Given the description of an element on the screen output the (x, y) to click on. 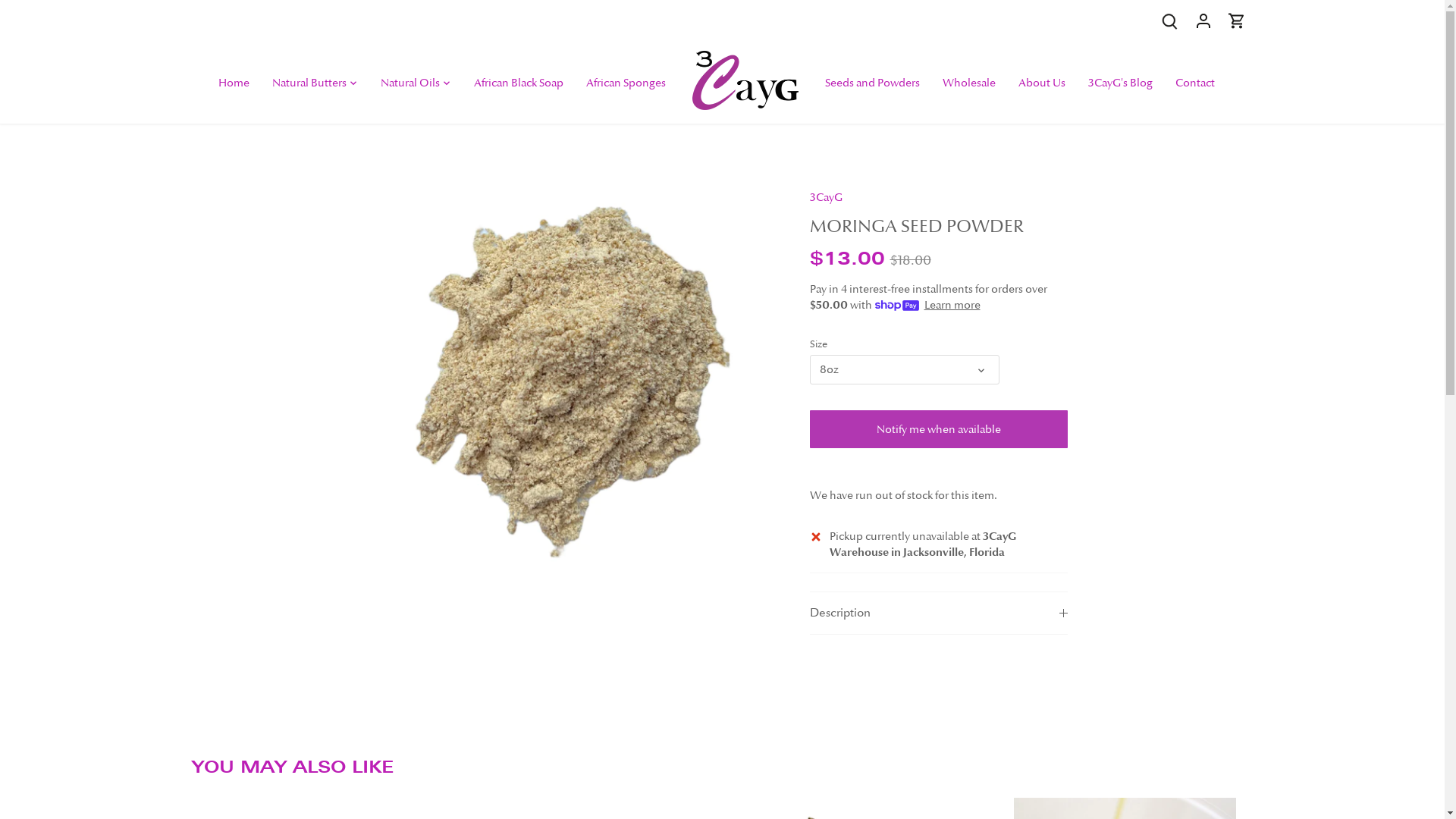
Wholesale Element type: text (969, 82)
Notify me when available Element type: text (938, 429)
Natural Oils Element type: text (410, 82)
Contact Element type: text (1195, 82)
Go to cart Element type: hover (1235, 20)
Seeds and Powders Element type: text (872, 82)
Home Element type: text (239, 82)
3CayG's Blog Element type: text (1120, 82)
About Us Element type: text (1041, 82)
3CayG Element type: text (825, 196)
African Sponges Element type: text (625, 82)
Natural Butters Element type: text (308, 82)
African Black Soap Element type: text (518, 82)
